Given the description of an element on the screen output the (x, y) to click on. 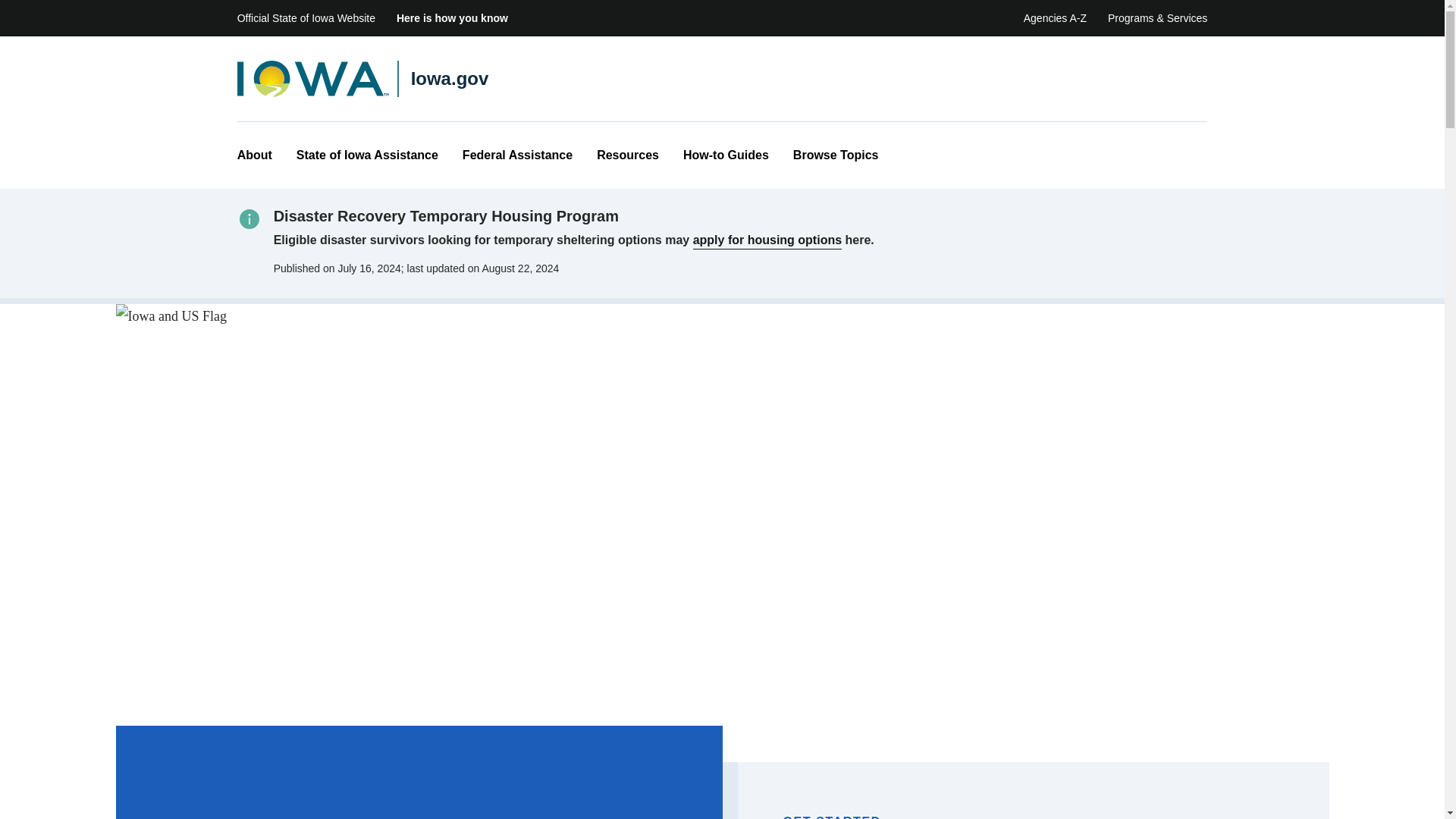
Federal Assistance (517, 155)
Here is how you know (452, 18)
Resources (627, 155)
Agencies A-Z (1054, 18)
State of Iowa Assistance (367, 155)
